Given the description of an element on the screen output the (x, y) to click on. 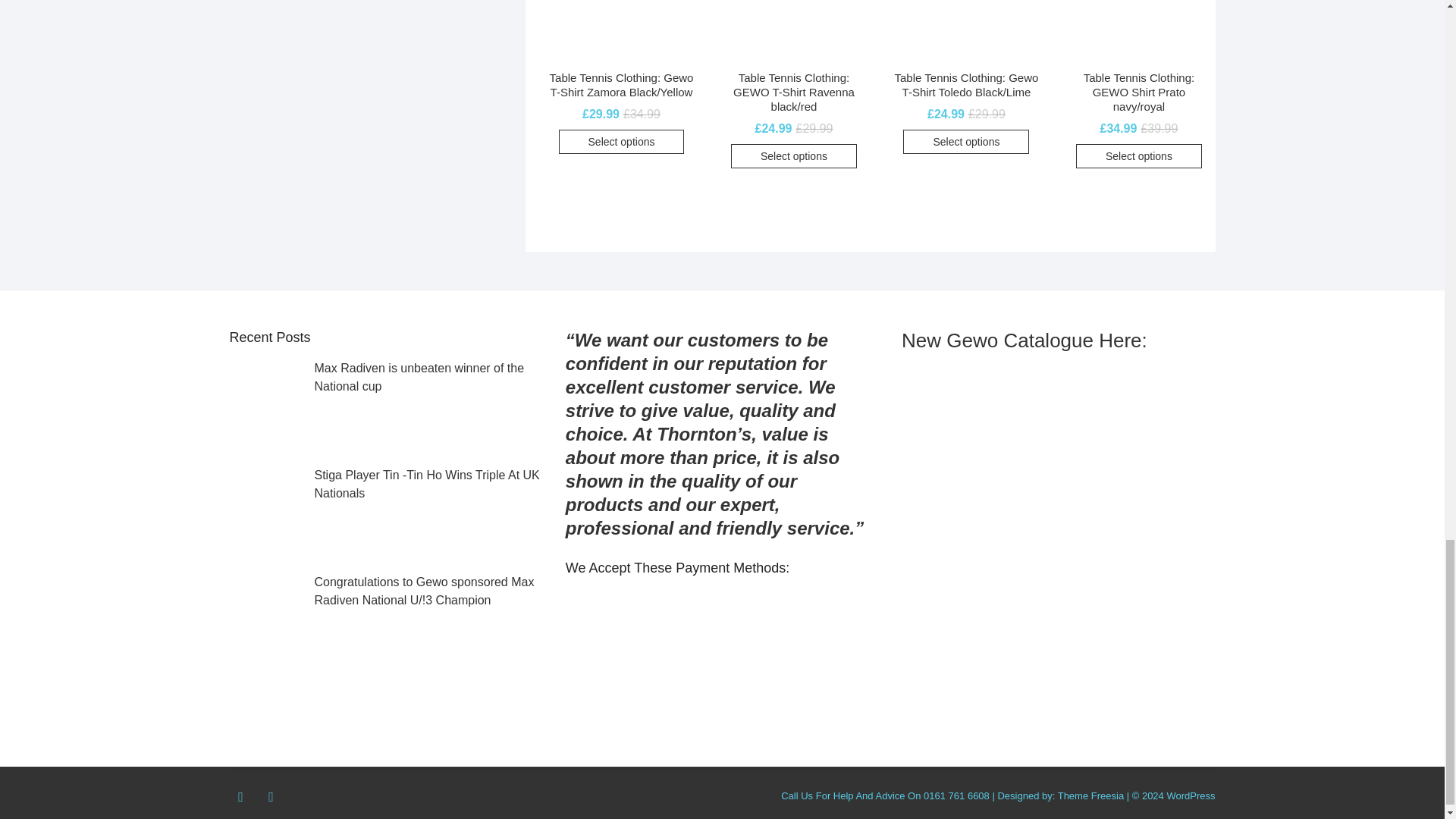
Call Us For Help And Advice On 0161 761 6608 (885, 795)
Theme Freesia (1091, 795)
WordPress (1190, 795)
